Given the description of an element on the screen output the (x, y) to click on. 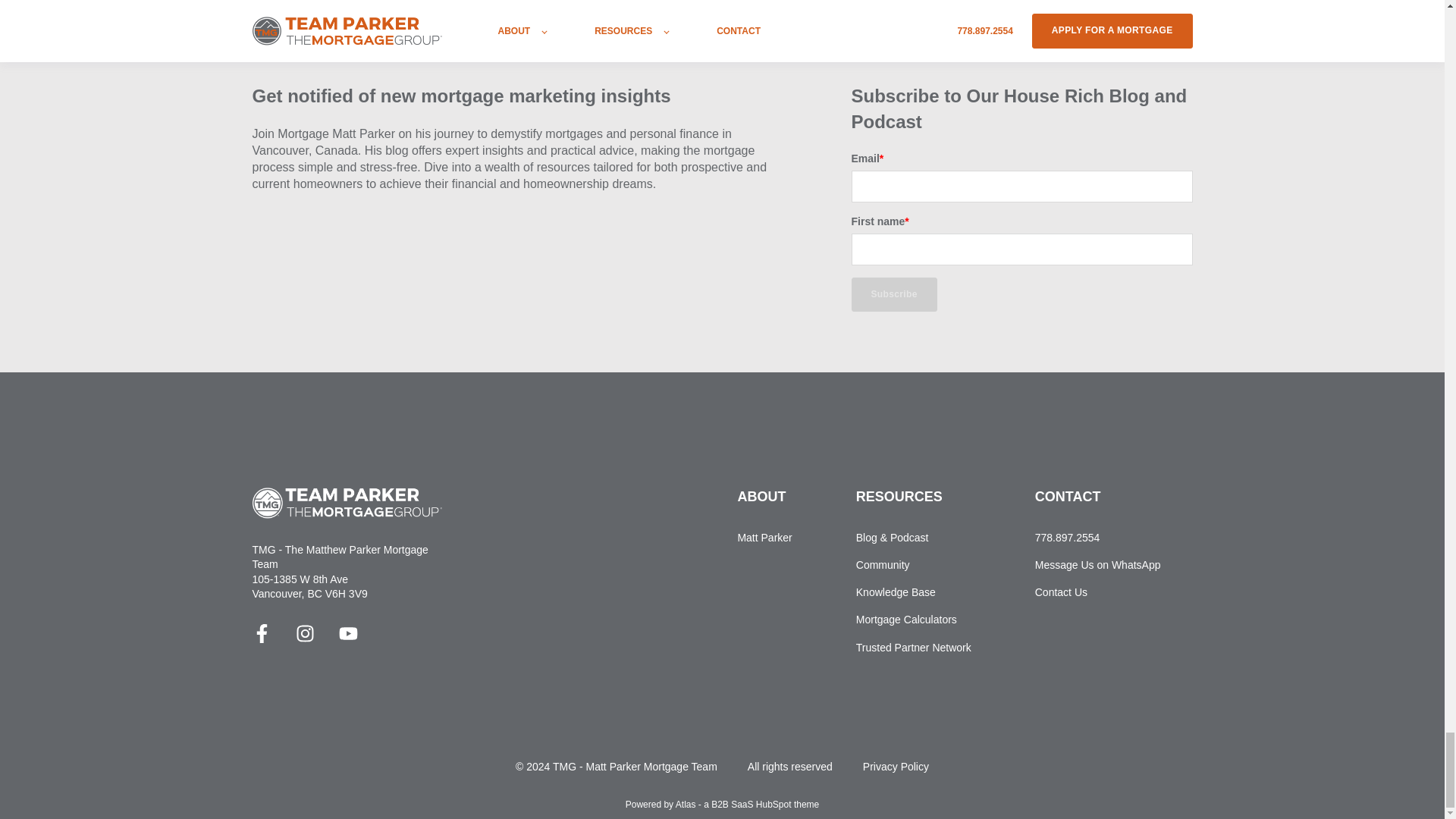
Subscribe (893, 294)
Mortgage Calculators (913, 619)
Subscribe (893, 294)
Community (913, 564)
Knowledge Base (913, 592)
Matt Parker (764, 537)
